Given the description of an element on the screen output the (x, y) to click on. 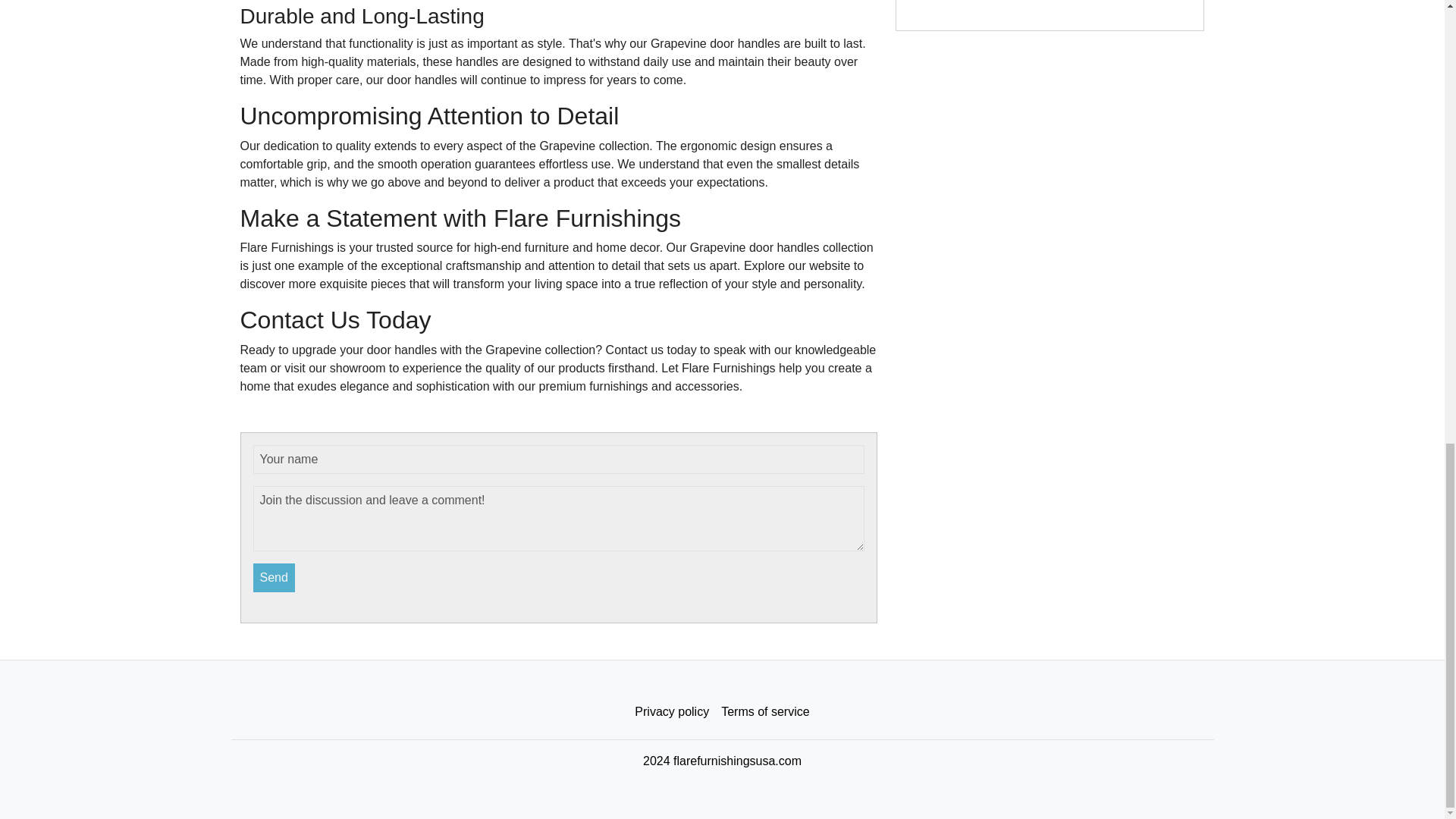
Terms of service (764, 711)
Privacy policy (671, 711)
Send (274, 577)
Send (274, 577)
